Given the description of an element on the screen output the (x, y) to click on. 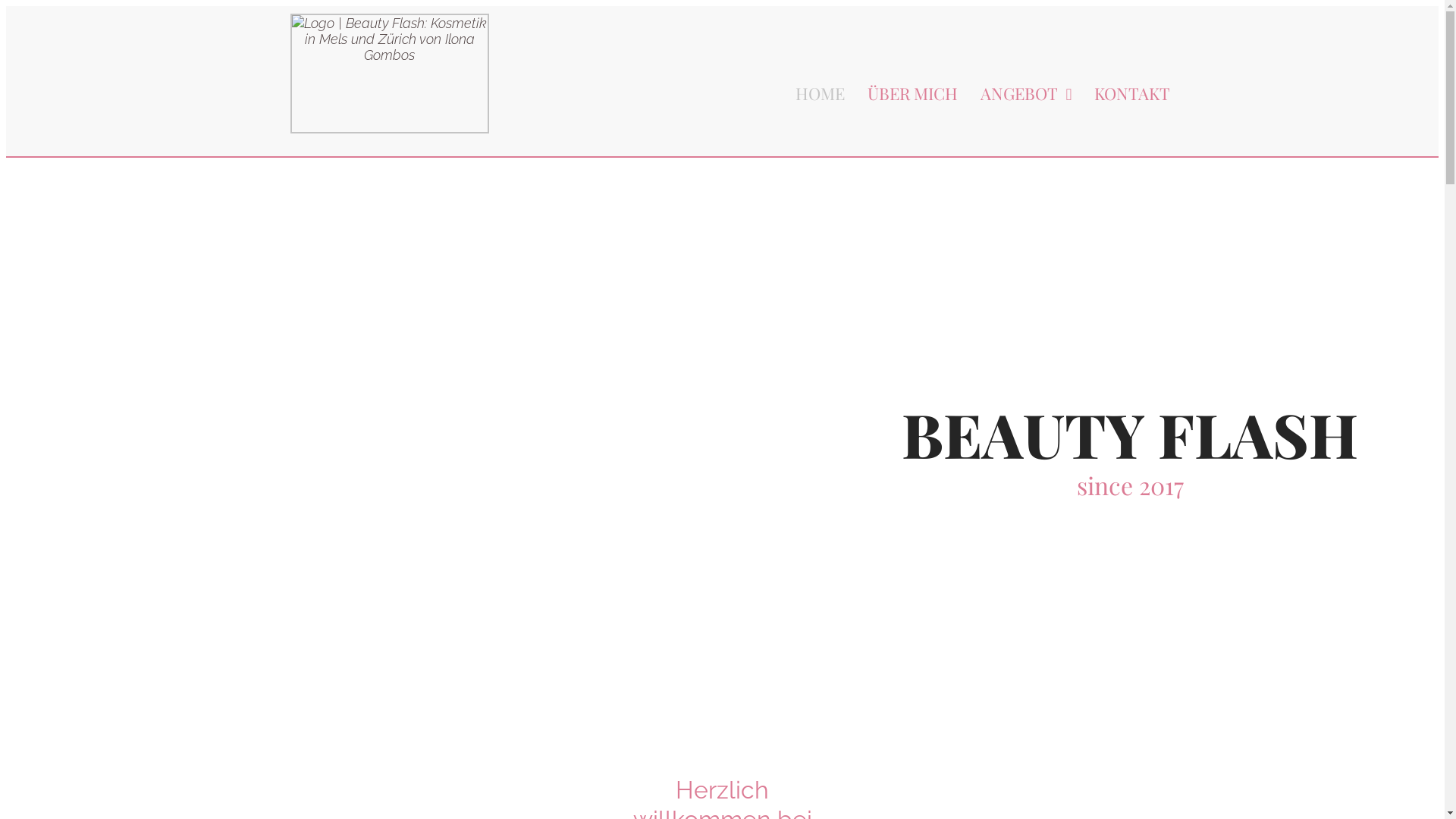
HOME Element type: text (808, 93)
KONTAKT Element type: text (1120, 93)
ANGEBOT Element type: text (1014, 93)
